Given the description of an element on the screen output the (x, y) to click on. 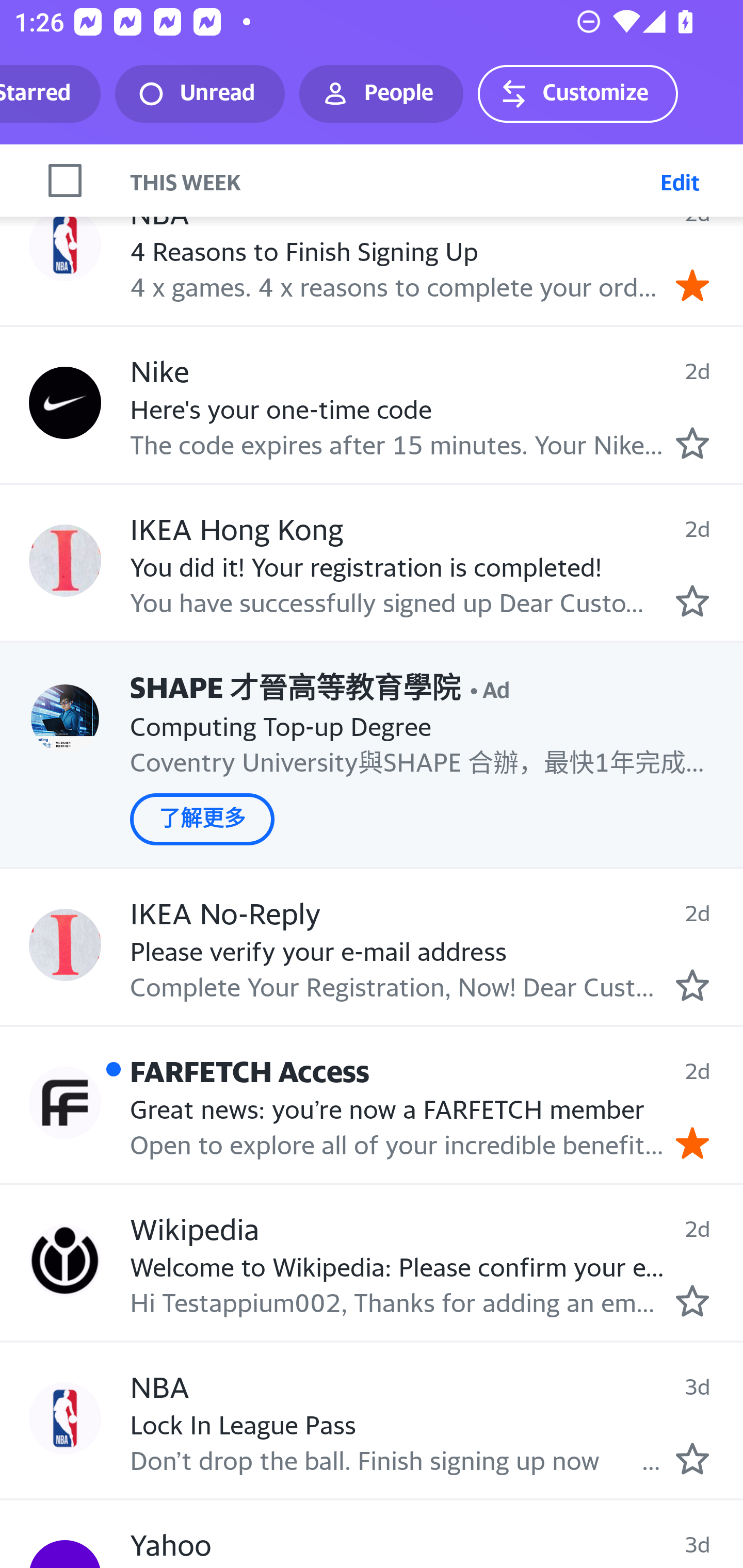
Unread (199, 93)
People (381, 93)
Customize (577, 93)
Profile
NBA (64, 244)
Remove star. (692, 284)
Profile
Nike (64, 402)
Mark as starred. (692, 442)
Profile
IKEA Hong Kong (64, 561)
Mark as starred. (692, 601)
Profile
IKEA No-Reply (64, 945)
Mark as starred. (692, 985)
Profile
FARFETCH Access (64, 1102)
Remove star. (692, 1142)
Profile
Wikipedia (64, 1260)
Mark as starred. (692, 1300)
Profile
NBA (64, 1418)
Mark as starred. (692, 1458)
